Given the description of an element on the screen output the (x, y) to click on. 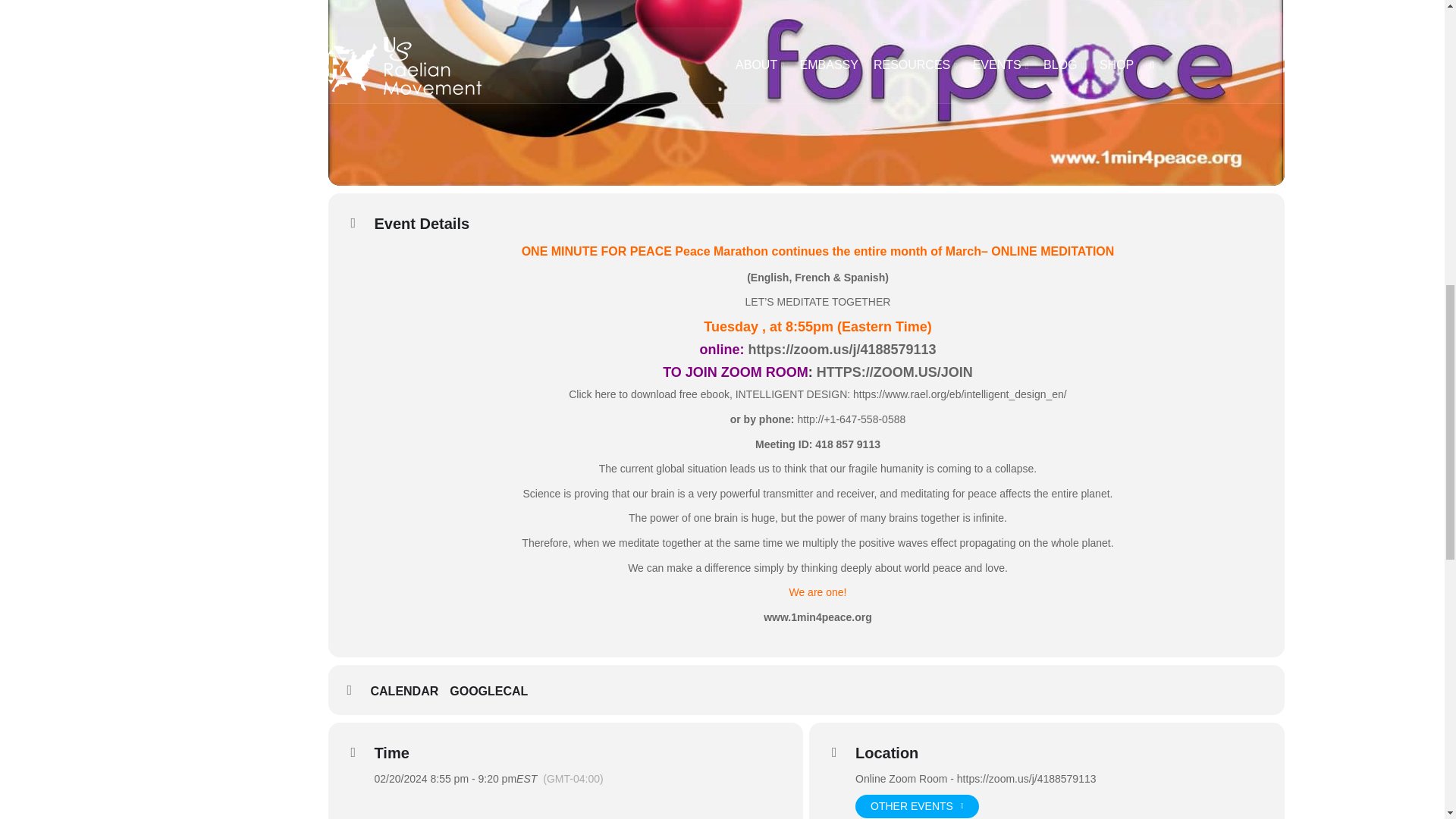
Add to your calendar (409, 691)
Add to google calendar (493, 691)
